Given the description of an element on the screen output the (x, y) to click on. 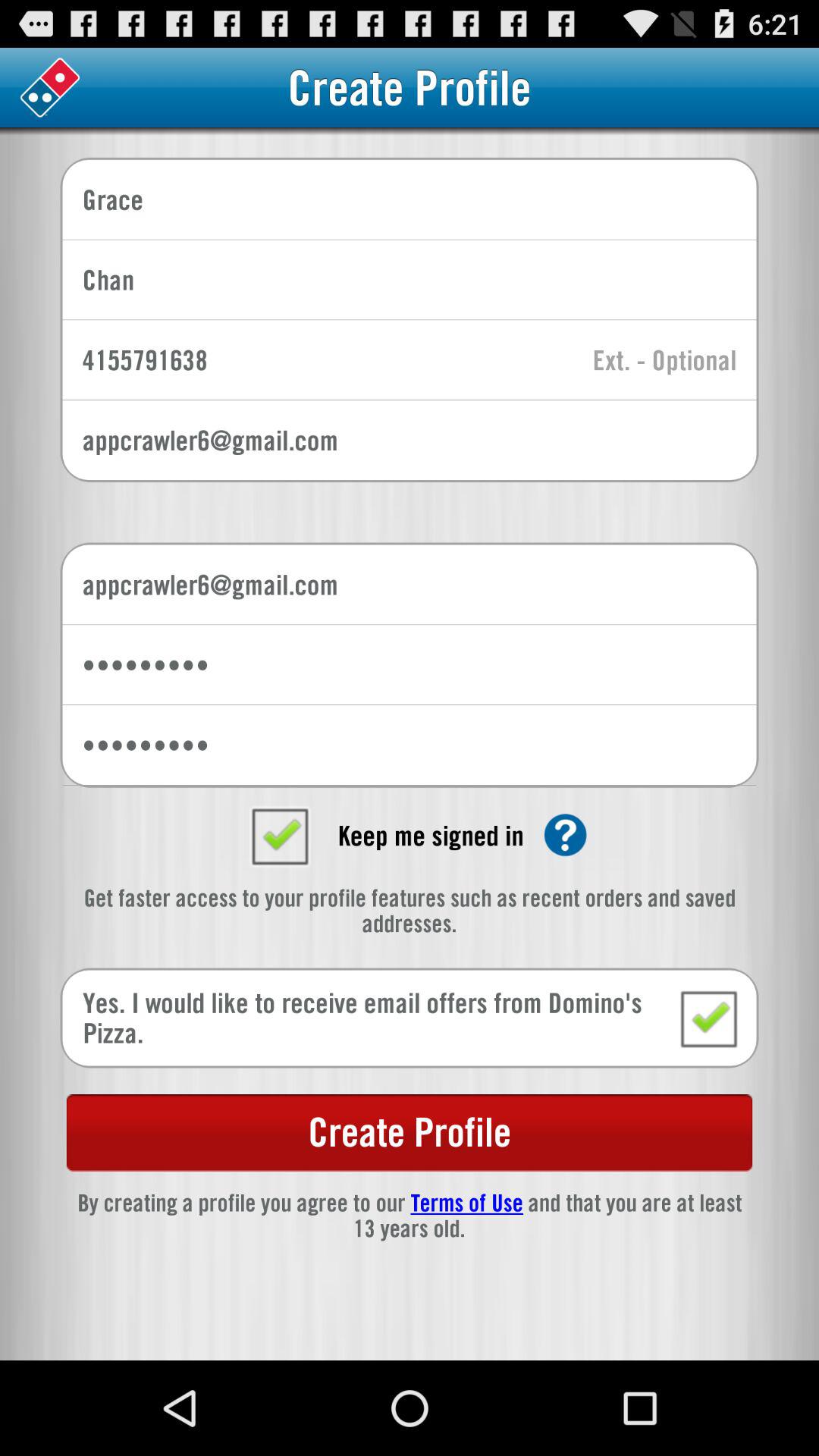
phone extension optional input (664, 361)
